Given the description of an element on the screen output the (x, y) to click on. 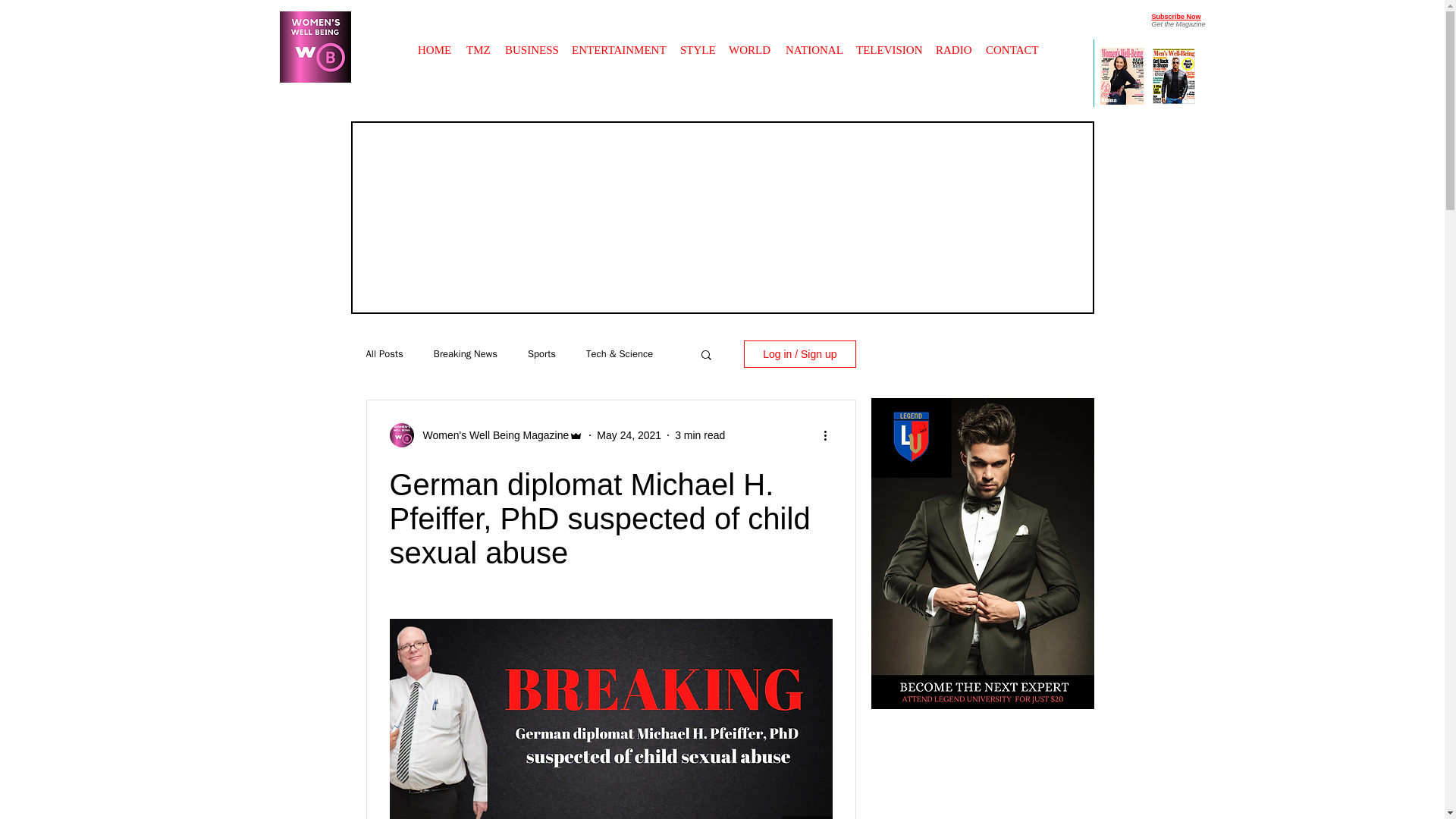
HOME (434, 42)
TELEVISION (888, 42)
BUSINESS (530, 42)
Sports (541, 354)
ENTERTAINMENT (618, 42)
NATIONAL (812, 42)
TMZ (477, 42)
Breaking News (465, 354)
3 min read (700, 435)
WORLD (748, 42)
